Given the description of an element on the screen output the (x, y) to click on. 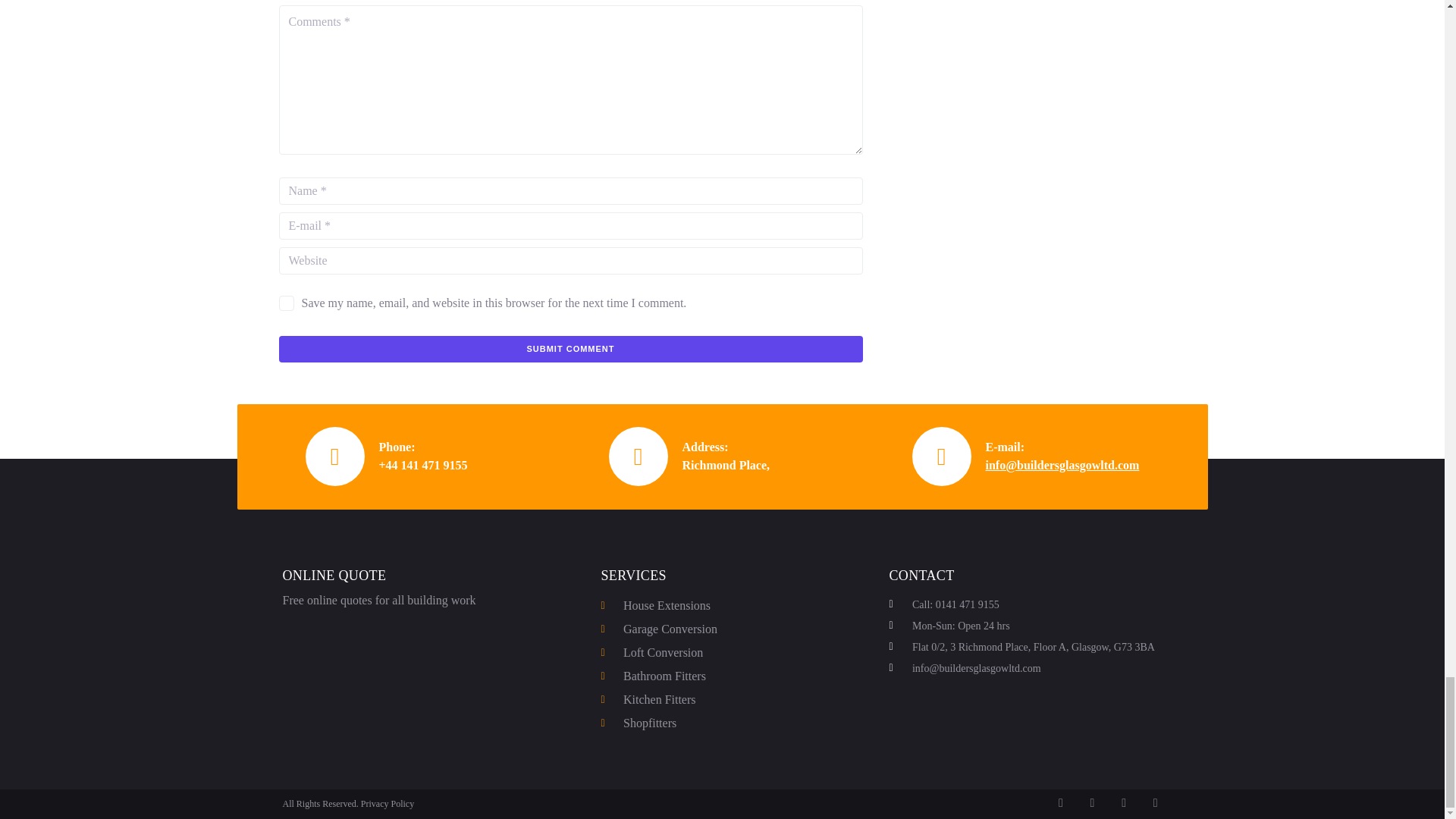
Submit Comment (571, 348)
Submit Comment (571, 348)
